Given the description of an element on the screen output the (x, y) to click on. 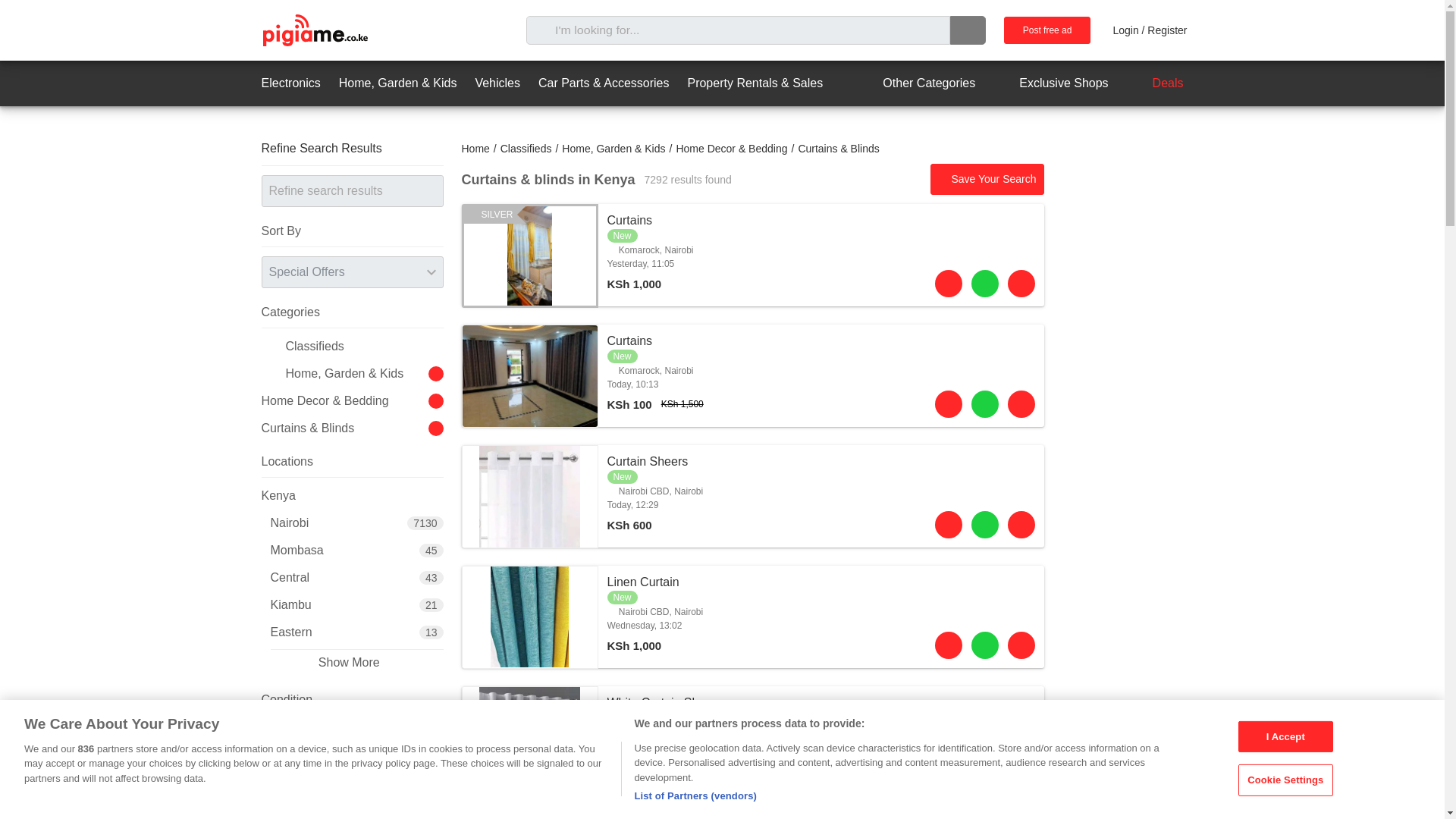
Other Categories (915, 83)
Classifieds (525, 148)
Vehicles (497, 83)
PigiaMe (752, 496)
Home (314, 29)
Deals (475, 148)
Exclusive Shops (1155, 83)
Post free ad (1050, 83)
Electronics (1047, 30)
